Given the description of an element on the screen output the (x, y) to click on. 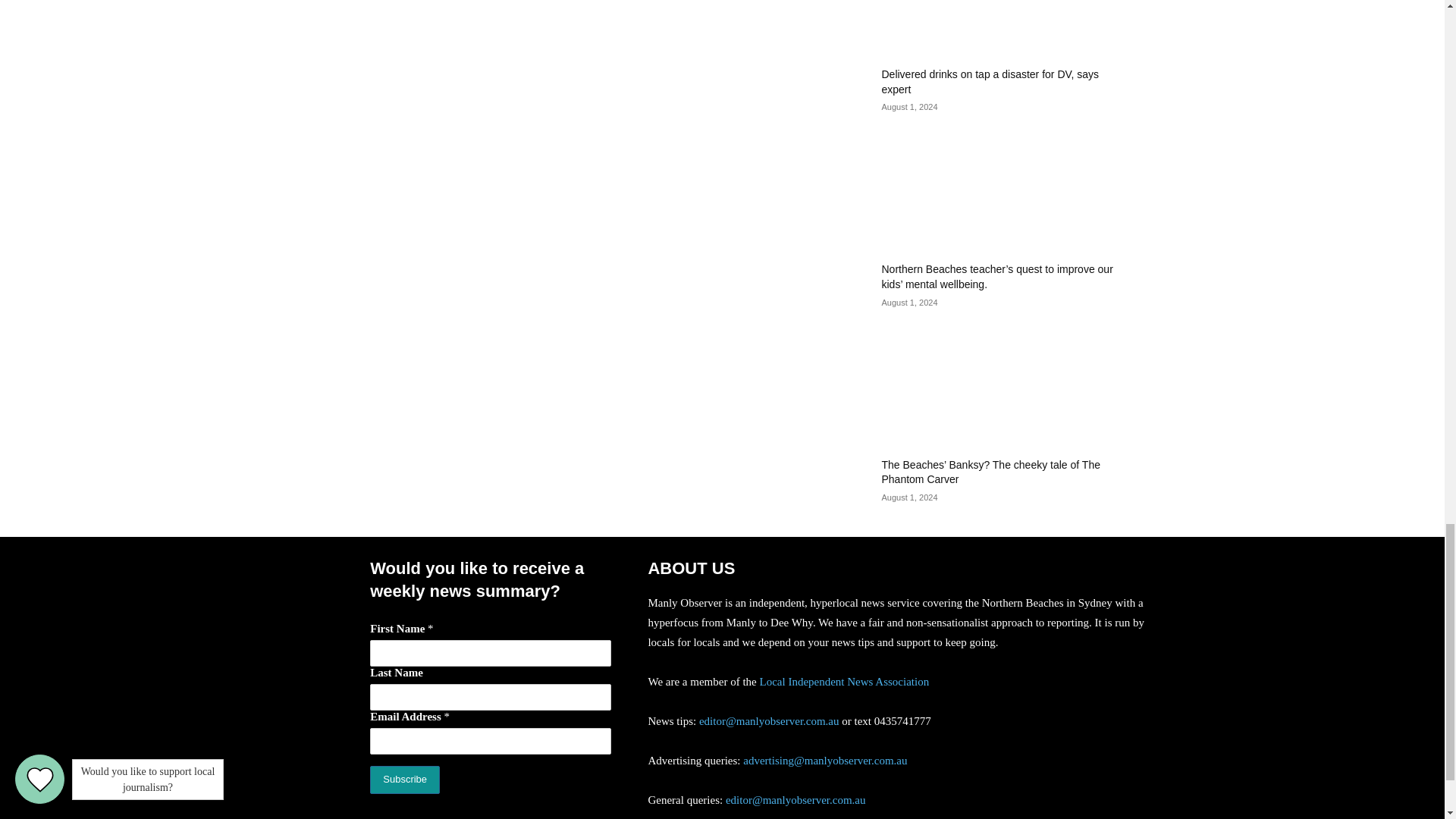
Subscribe (404, 779)
